Given the description of an element on the screen output the (x, y) to click on. 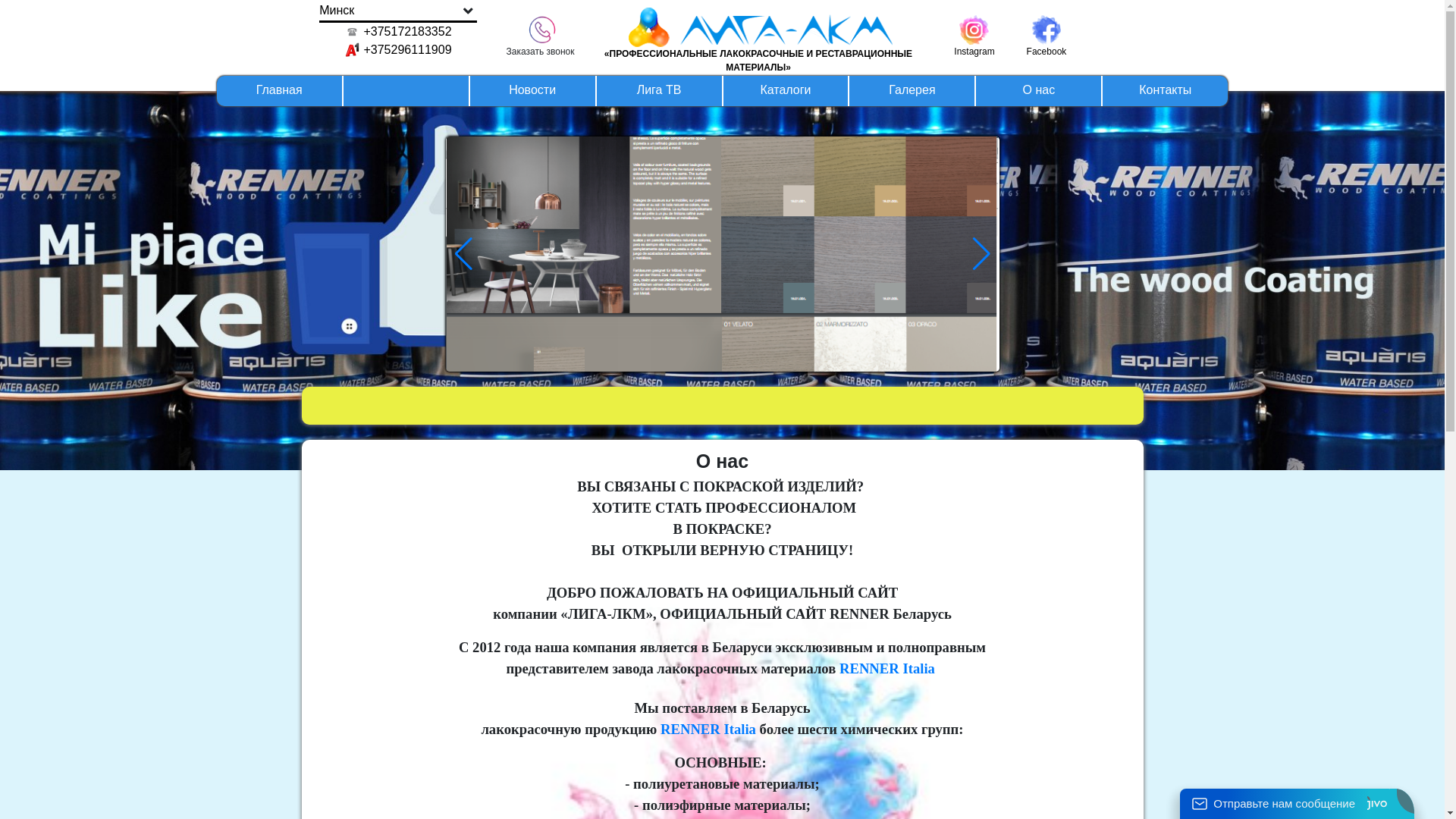
Instagram Element type: text (973, 29)
RENNER Italia Element type: text (708, 728)
+375296111909 Element type: text (398, 49)
COLORTUNES Element type: hover (722, 329)
RENNER Italia Element type: text (887, 667)
Facebook Element type: text (1045, 29)
+375172183352 Element type: text (398, 31)
